Given the description of an element on the screen output the (x, y) to click on. 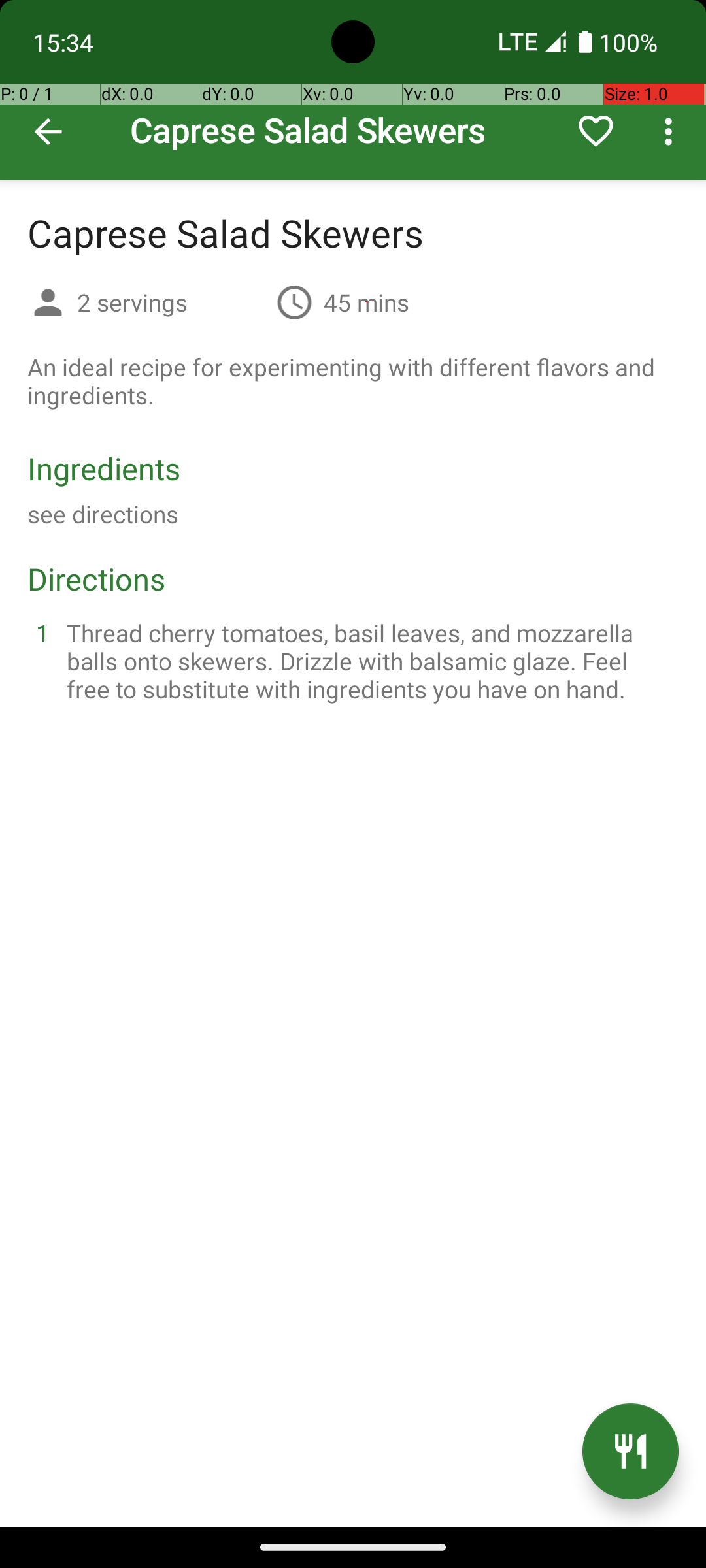
Thread cherry tomatoes, basil leaves, and mozzarella balls onto skewers. Drizzle with balsamic glaze. Feel free to substitute with ingredients you have on hand. Element type: android.widget.TextView (368, 660)
